Given the description of an element on the screen output the (x, y) to click on. 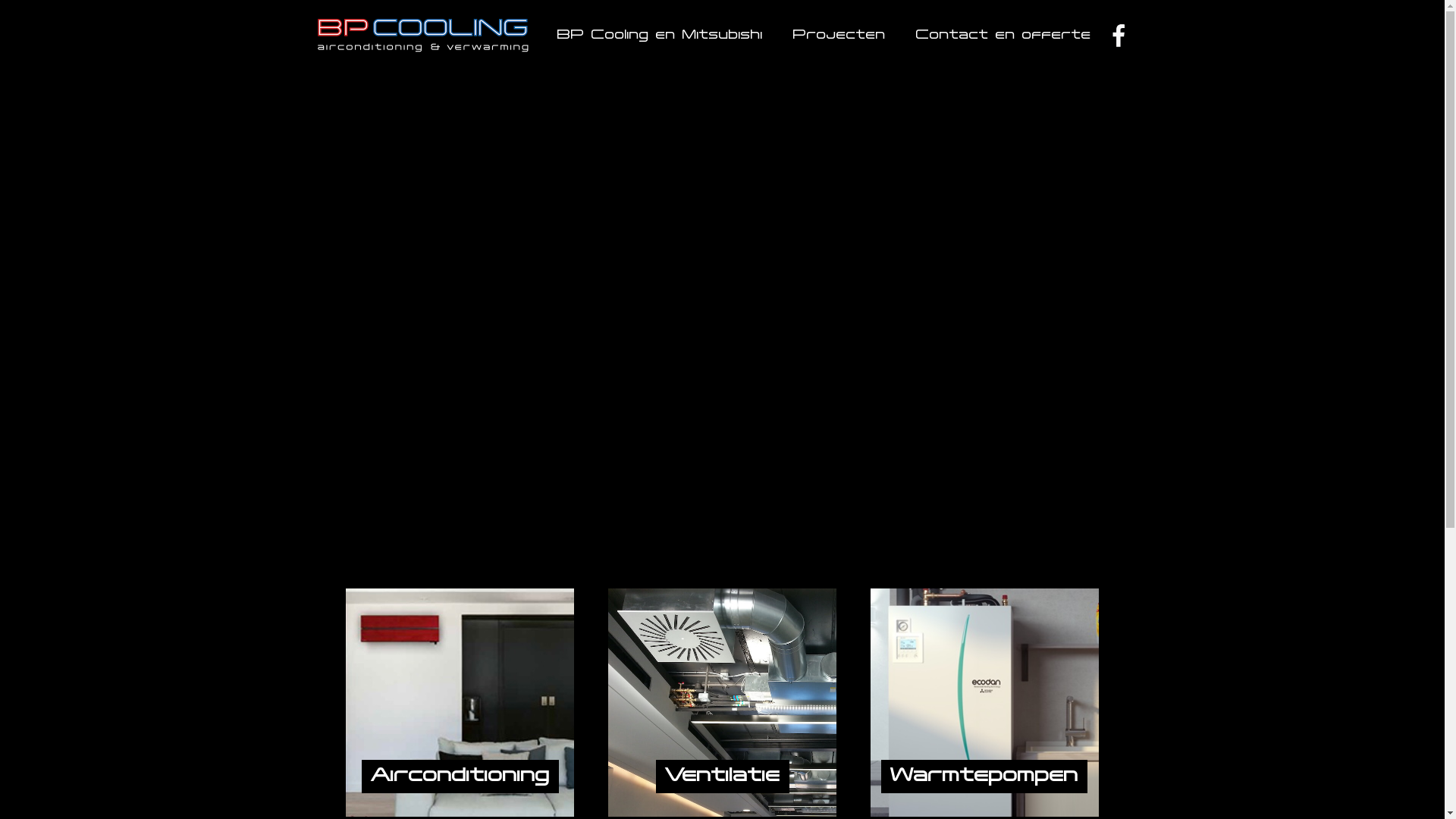
Warmtepompen Element type: text (984, 690)
Projecten Element type: text (839, 36)
Contact en offerte Element type: text (1003, 36)
Airconditioning Element type: text (460, 690)
Ventilatie Element type: text (722, 690)
BP Cooling en Mitsubishi Element type: text (659, 36)
